Given the description of an element on the screen output the (x, y) to click on. 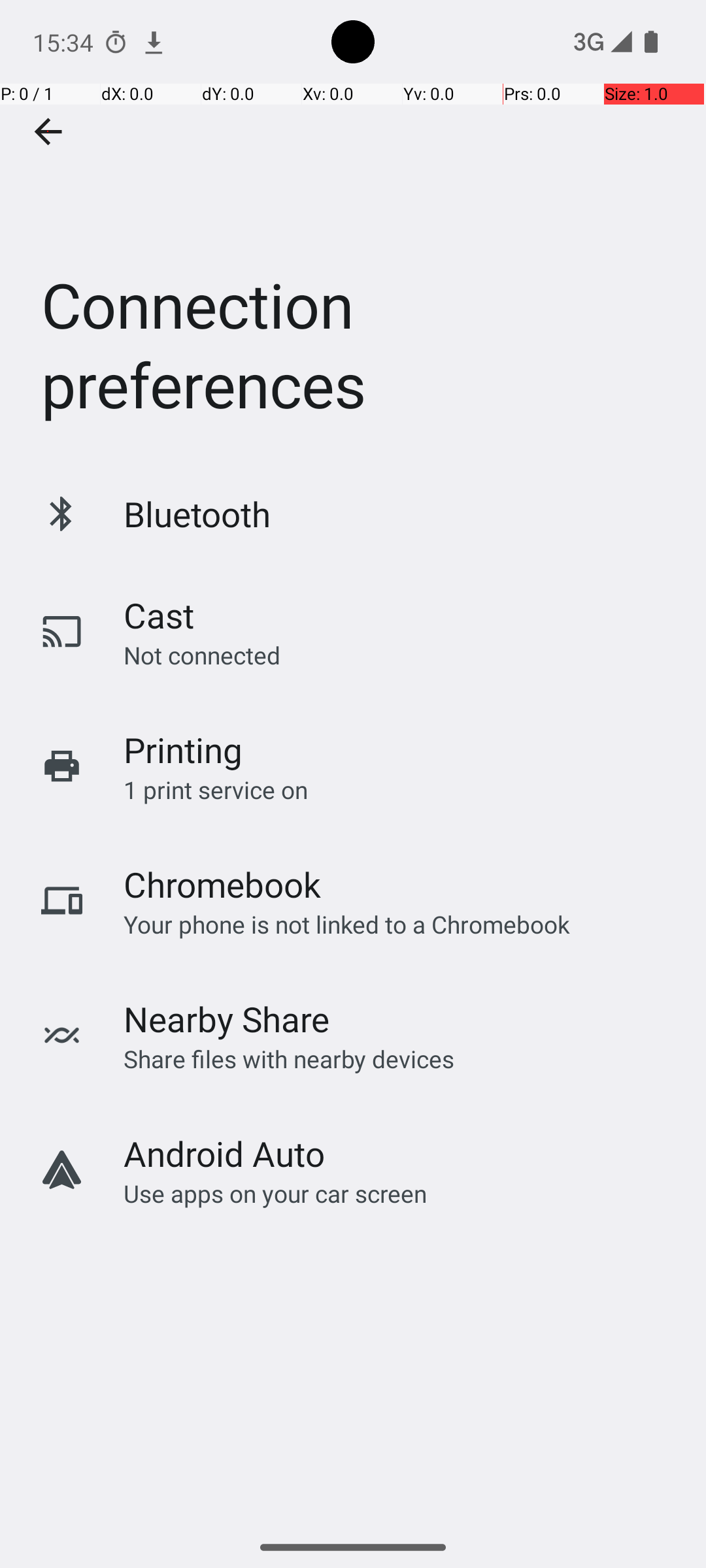
Cast Element type: android.widget.TextView (158, 614)
Not connected Element type: android.widget.TextView (201, 654)
Printing Element type: android.widget.TextView (182, 749)
1 print service on Element type: android.widget.TextView (215, 789)
Your phone is not linked to a Chromebook Element type: android.widget.TextView (346, 923)
Share files with nearby devices Element type: android.widget.TextView (288, 1058)
Use apps on your car screen Element type: android.widget.TextView (275, 1192)
